Given the description of an element on the screen output the (x, y) to click on. 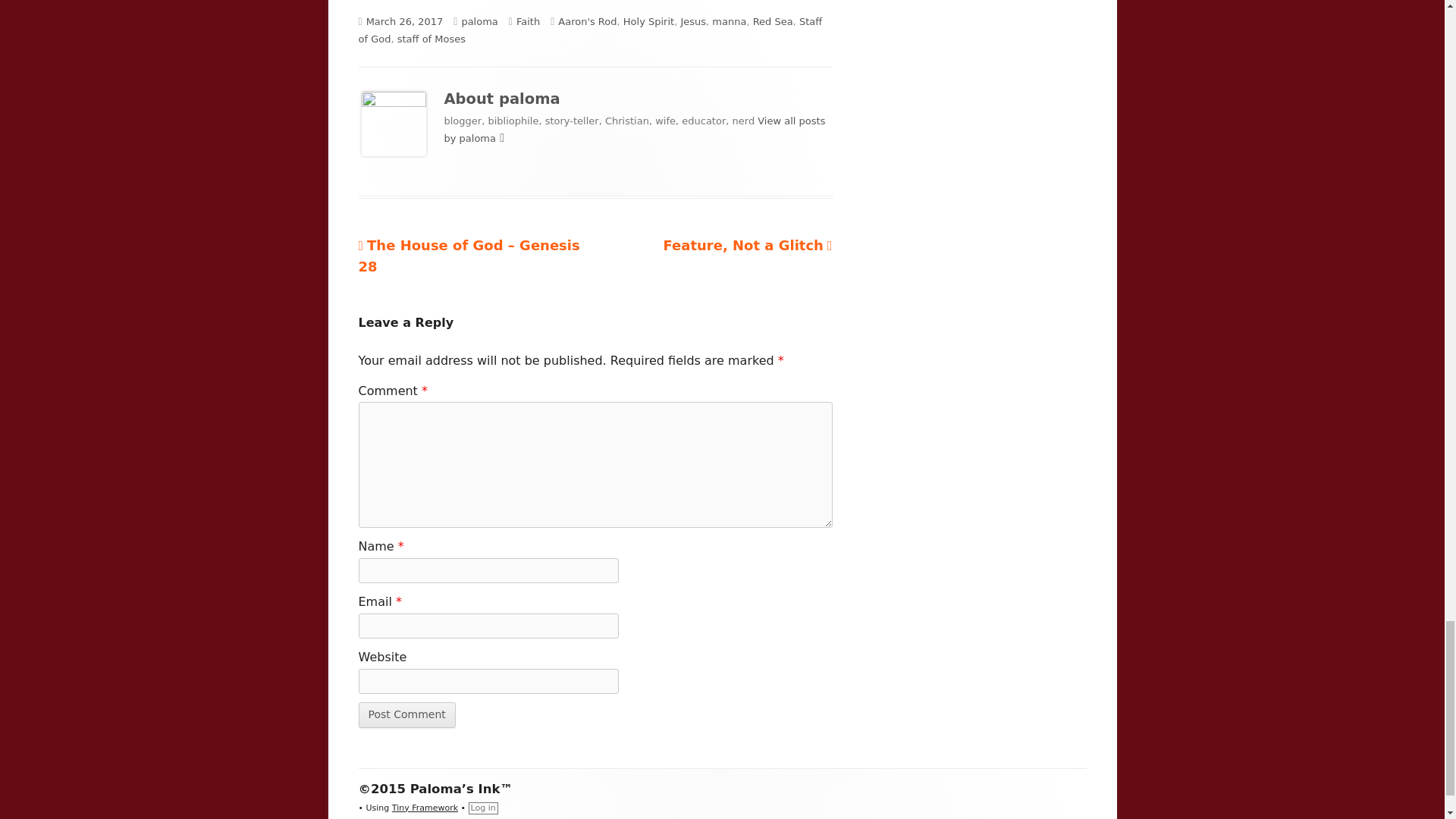
Post Comment (406, 714)
Jesus (692, 21)
staff of Moses (431, 39)
Faith (528, 21)
View all posts by paloma (634, 129)
Aaron's Rod (586, 21)
Holy Spirit (648, 21)
March 26, 2017 (405, 21)
manna (728, 21)
Staff of God (590, 30)
paloma (479, 21)
Red Sea (746, 245)
Post Comment (772, 21)
